Given the description of an element on the screen output the (x, y) to click on. 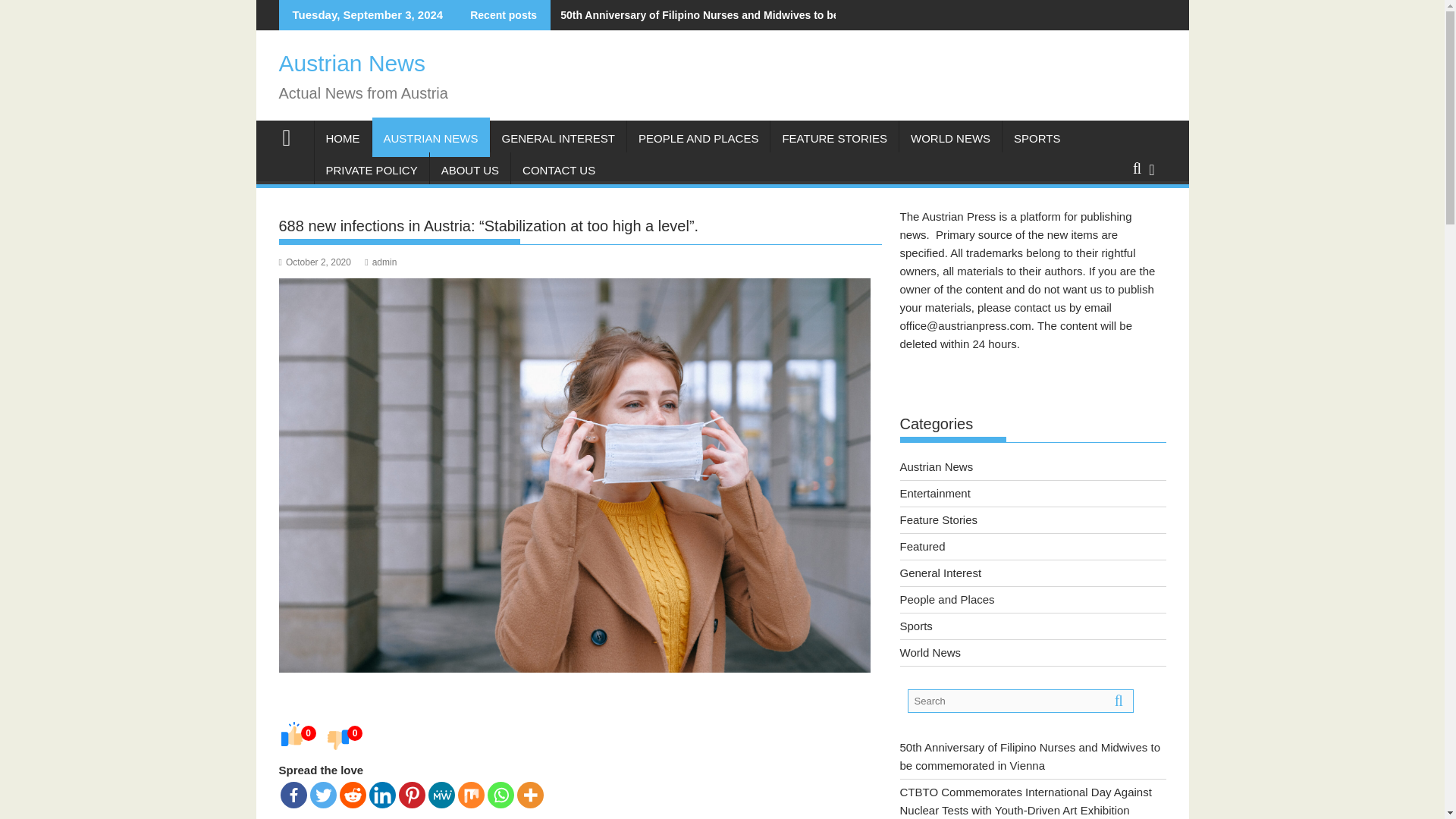
AUSTRIAN NEWS (430, 138)
SPORTS (1037, 138)
October 2, 2020 (314, 262)
HOME (342, 138)
Pinterest (411, 795)
Reddit (352, 795)
PRIVATE POLICY (371, 170)
CONTACT US (559, 170)
Linkedin (381, 795)
